Given the description of an element on the screen output the (x, y) to click on. 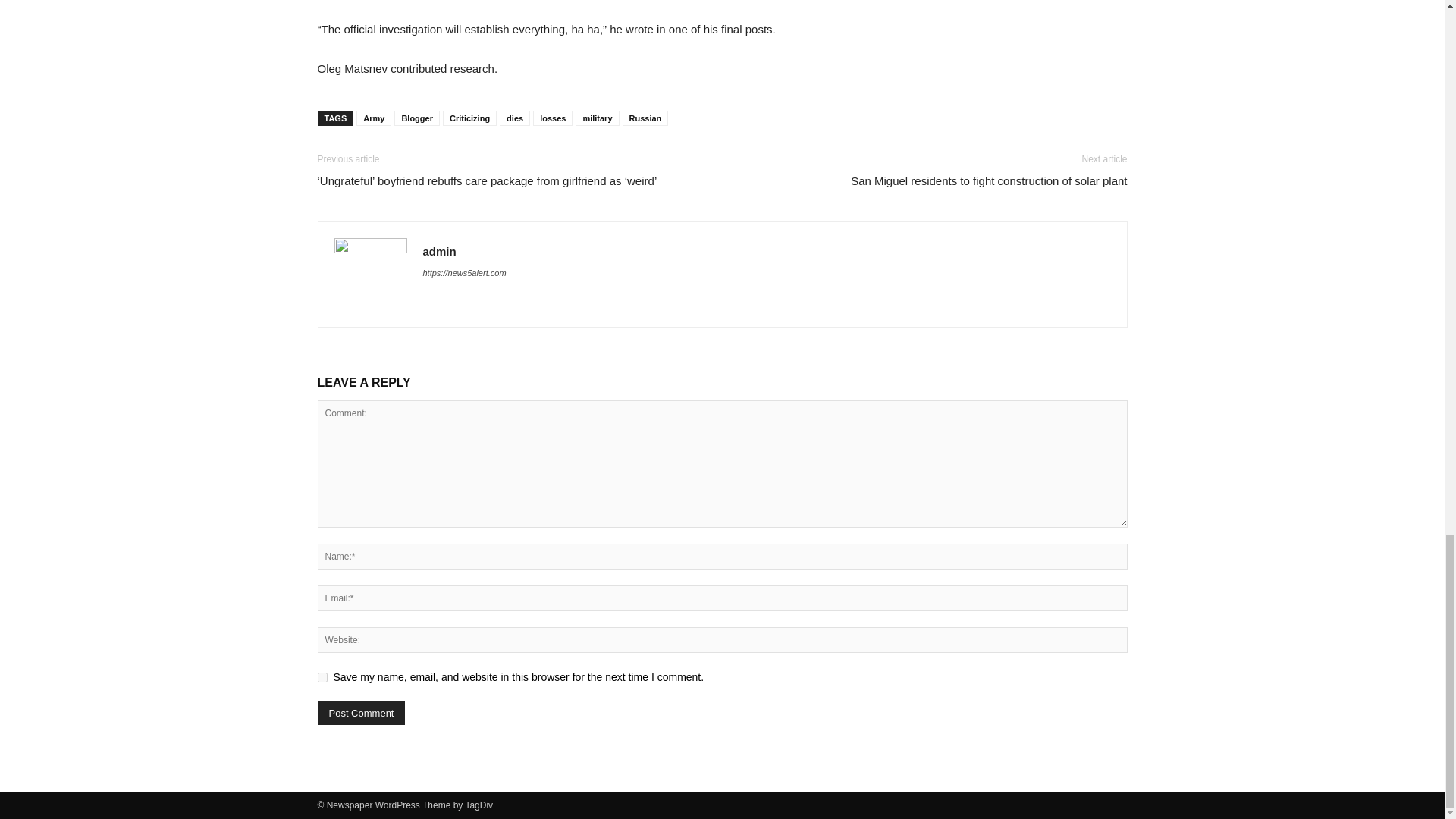
Post Comment (360, 712)
Post Comment (360, 712)
Army (373, 118)
Criticizing (469, 118)
San Miguel residents to fight construction of solar plant (988, 180)
Russian (645, 118)
yes (321, 677)
military (596, 118)
admin (440, 250)
dies (514, 118)
